Given the description of an element on the screen output the (x, y) to click on. 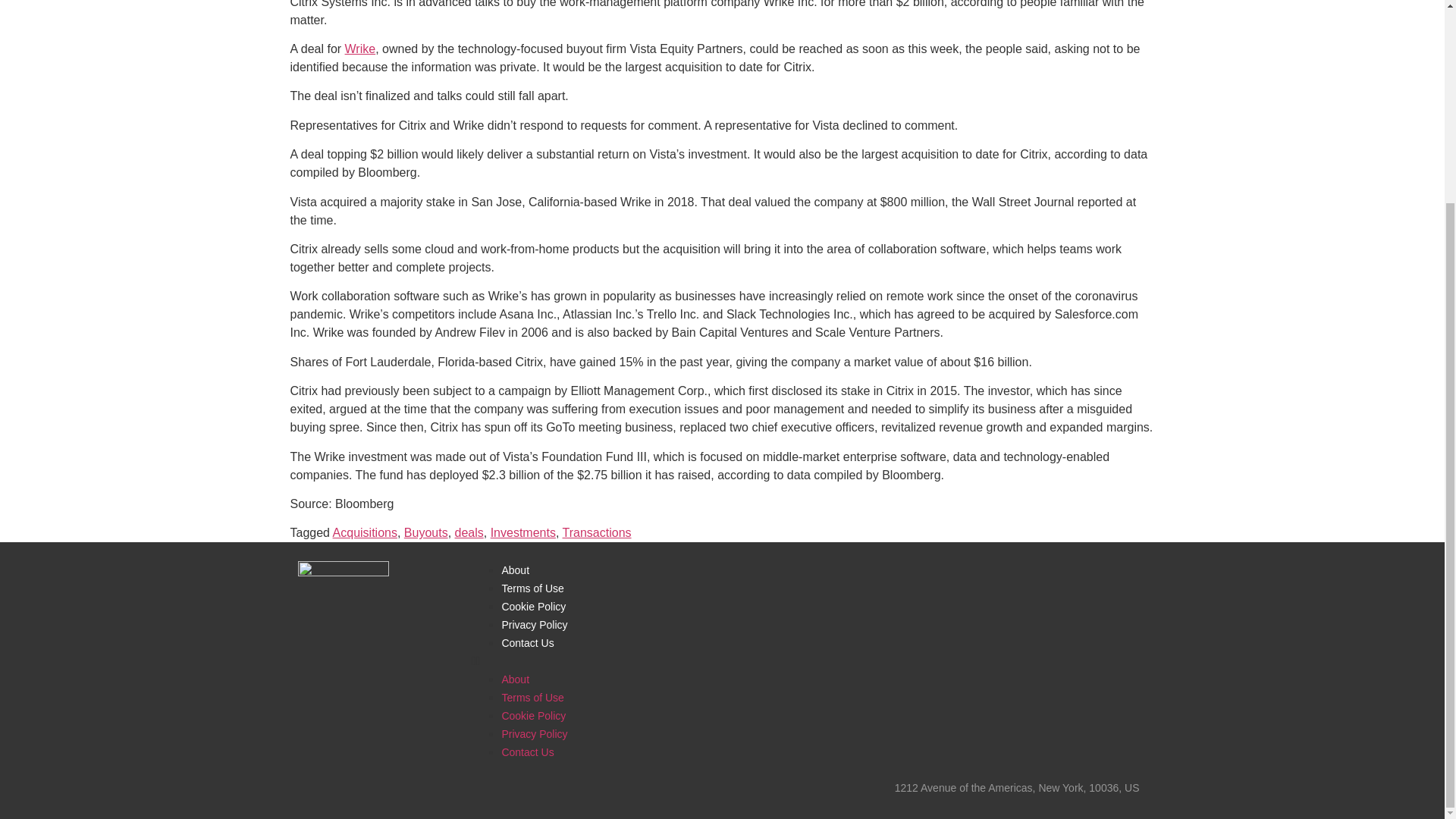
Transactions (596, 532)
Buyouts (426, 532)
Investments (523, 532)
Acquisitions (365, 532)
Terms of Use (531, 697)
Contact Us (526, 752)
Contact Us (526, 643)
Wrike (360, 48)
Cookie Policy (533, 715)
Privacy Policy (533, 624)
